Given the description of an element on the screen output the (x, y) to click on. 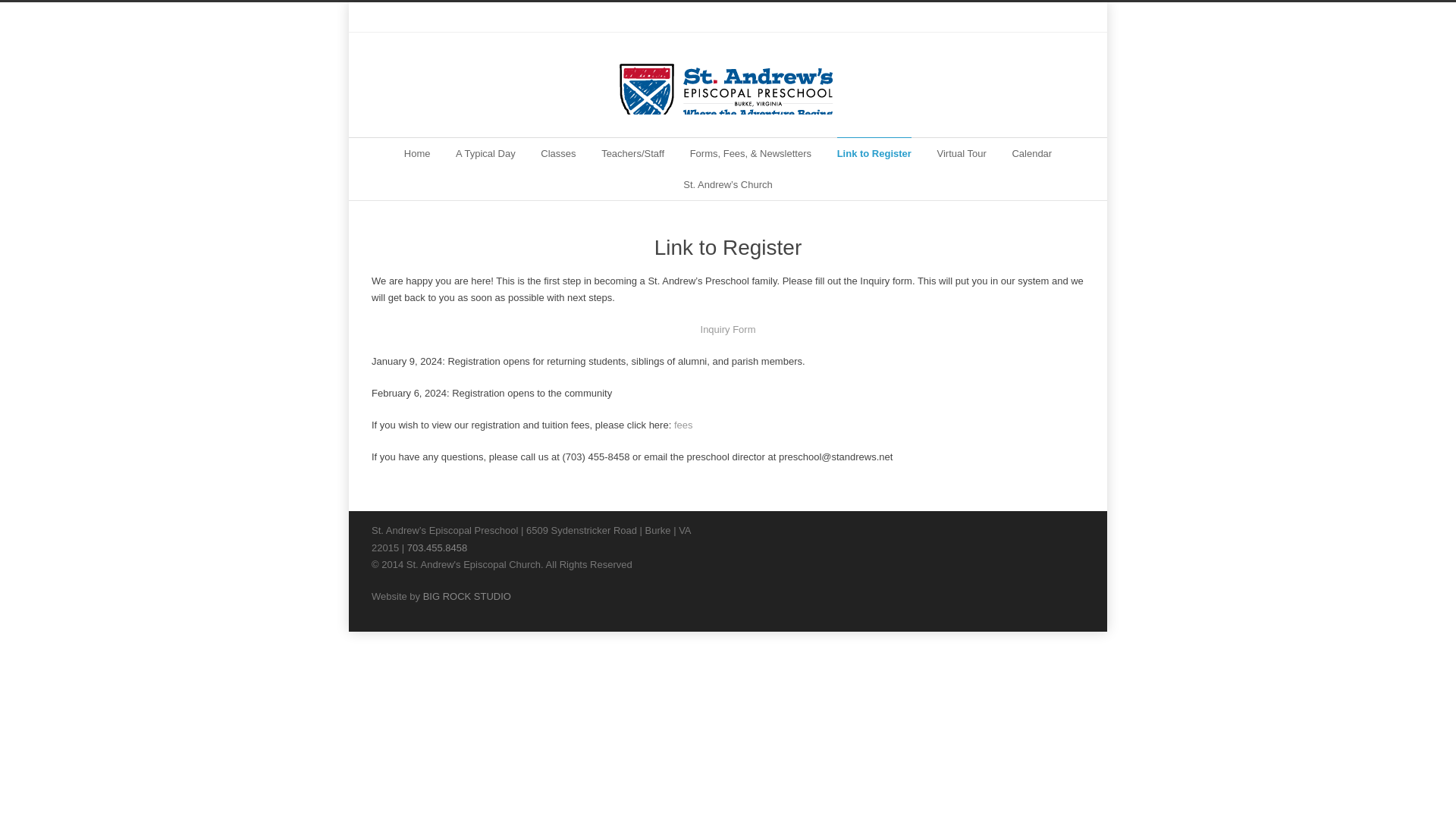
Calendar (1031, 153)
BIG ROCK STUDIO (467, 595)
A Typical Day (485, 153)
Classes (557, 153)
fees (683, 424)
703.455.8458 (437, 547)
Link to Register (874, 152)
Inquiry Form (727, 328)
Virtual Tour (962, 153)
